Given the description of an element on the screen output the (x, y) to click on. 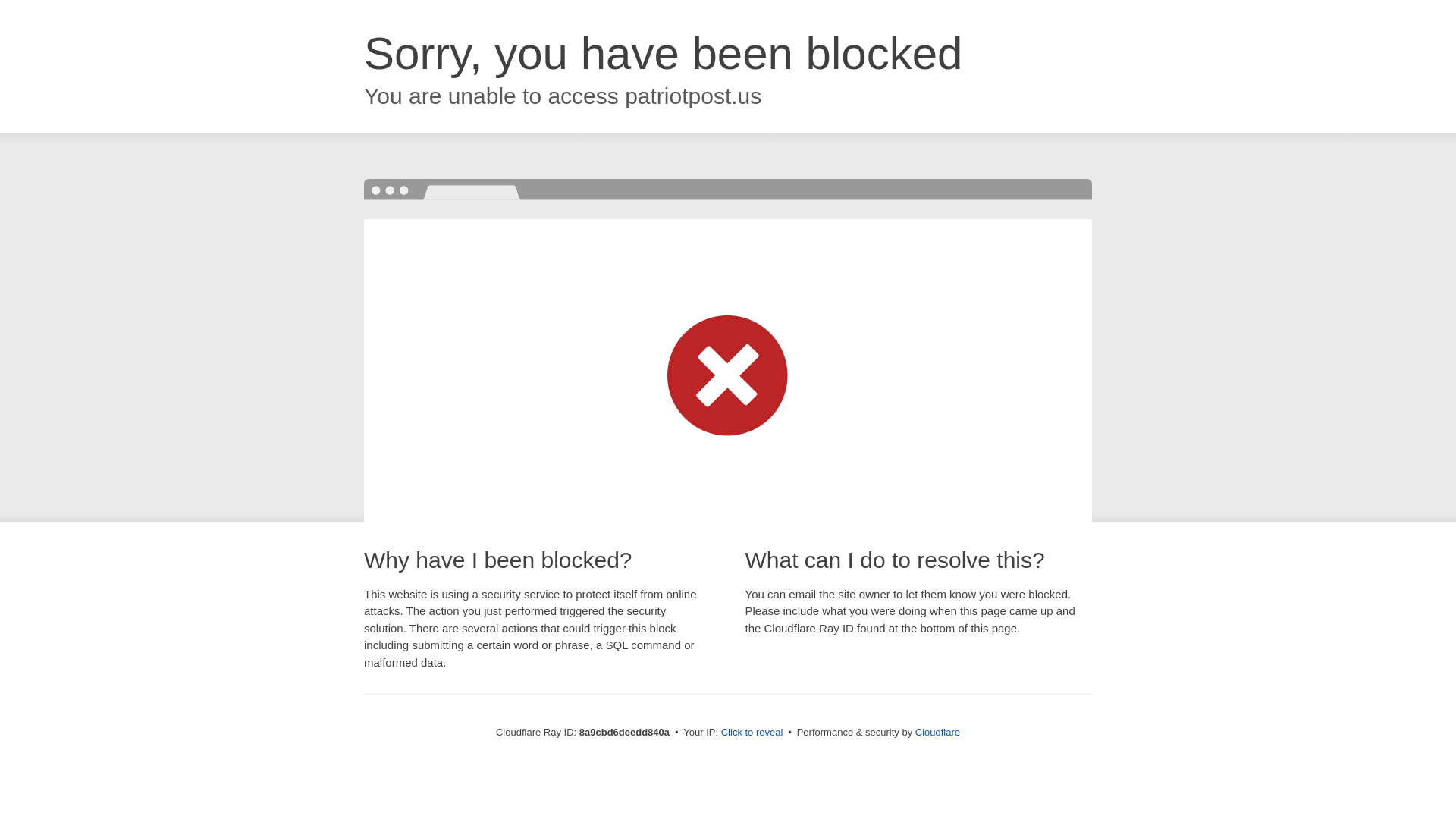
Click to reveal (751, 732)
Cloudflare (937, 731)
